Given the description of an element on the screen output the (x, y) to click on. 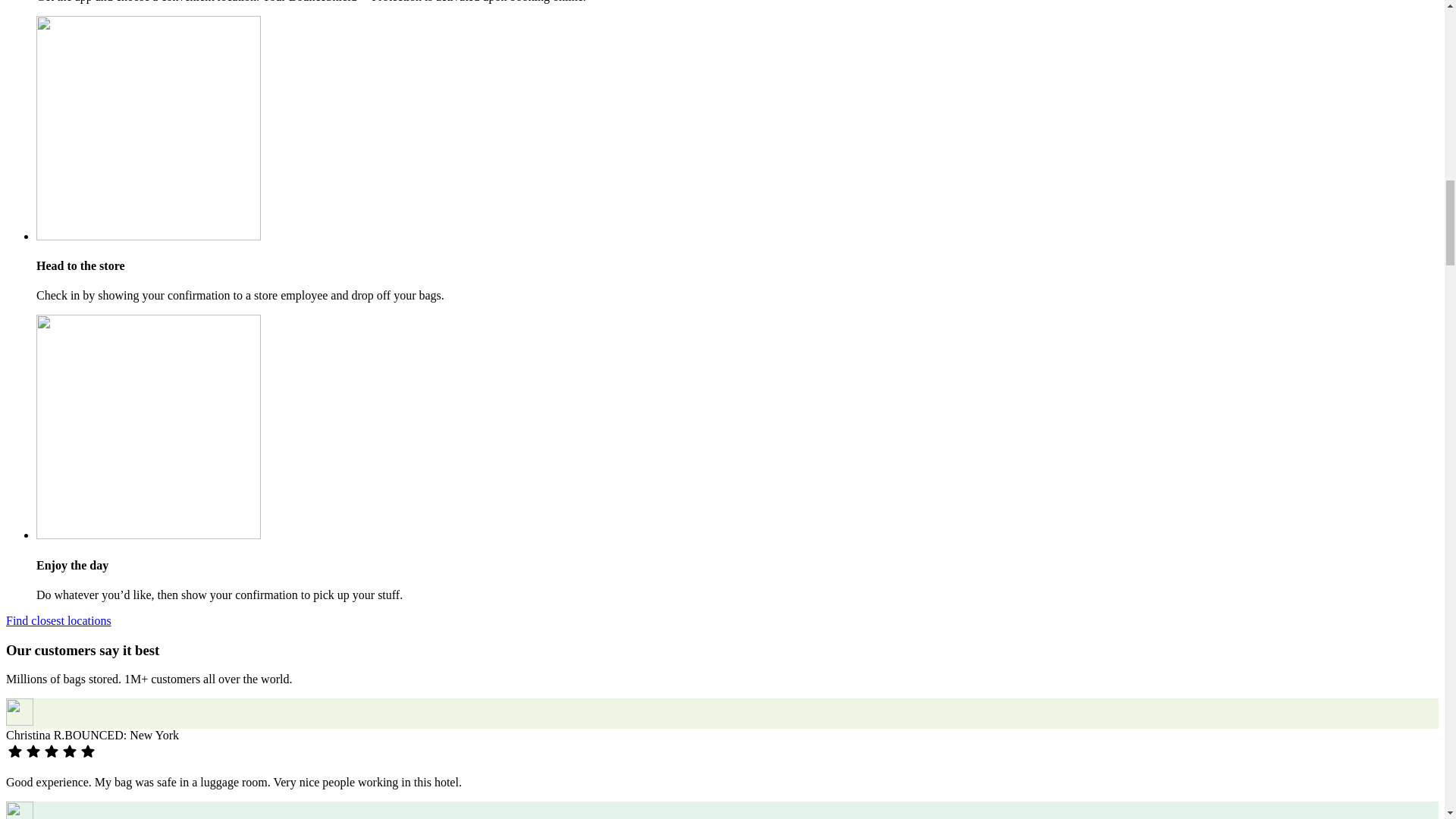
Find closest locations (58, 620)
